Given the description of an element on the screen output the (x, y) to click on. 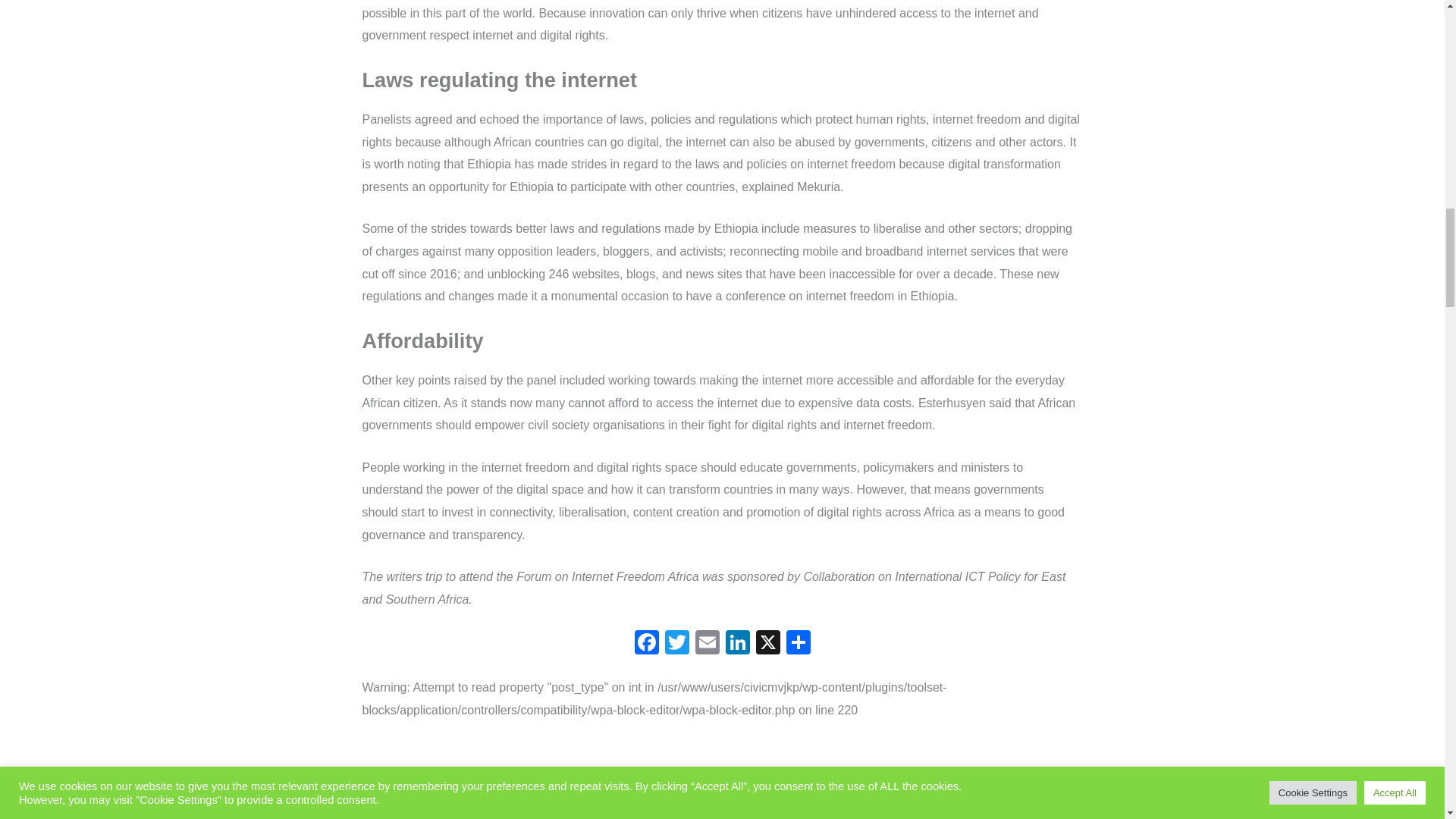
Twitter (676, 643)
X (767, 643)
Facebook (645, 643)
LinkedIn (737, 643)
Email (706, 643)
